Given the description of an element on the screen output the (x, y) to click on. 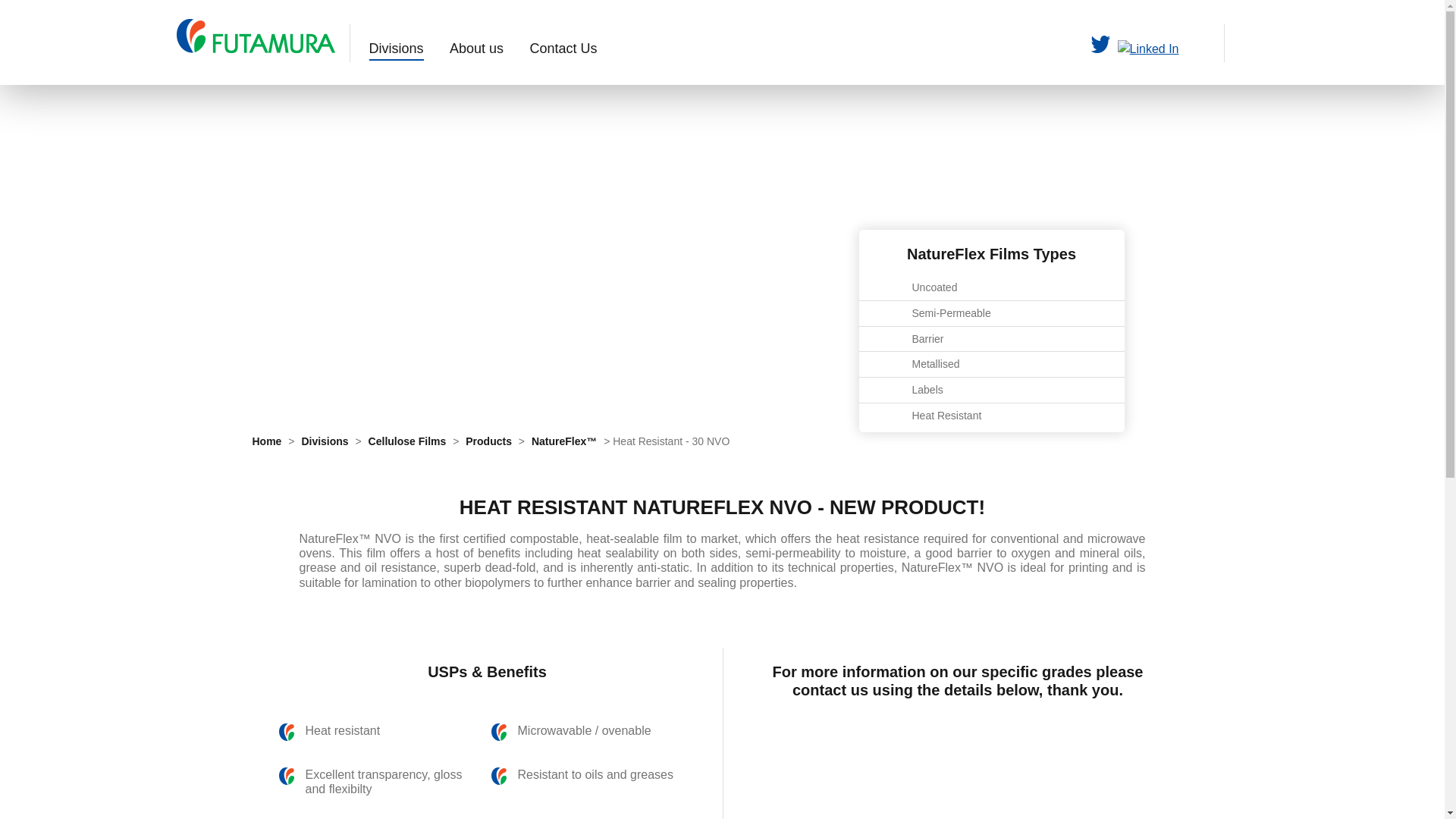
Divisions (324, 440)
Barrier (991, 339)
Products (488, 440)
Home (268, 440)
Labels (991, 389)
About us (476, 48)
Metallised (991, 364)
Divisions (395, 48)
Cellulose Films (407, 440)
